Given the description of an element on the screen output the (x, y) to click on. 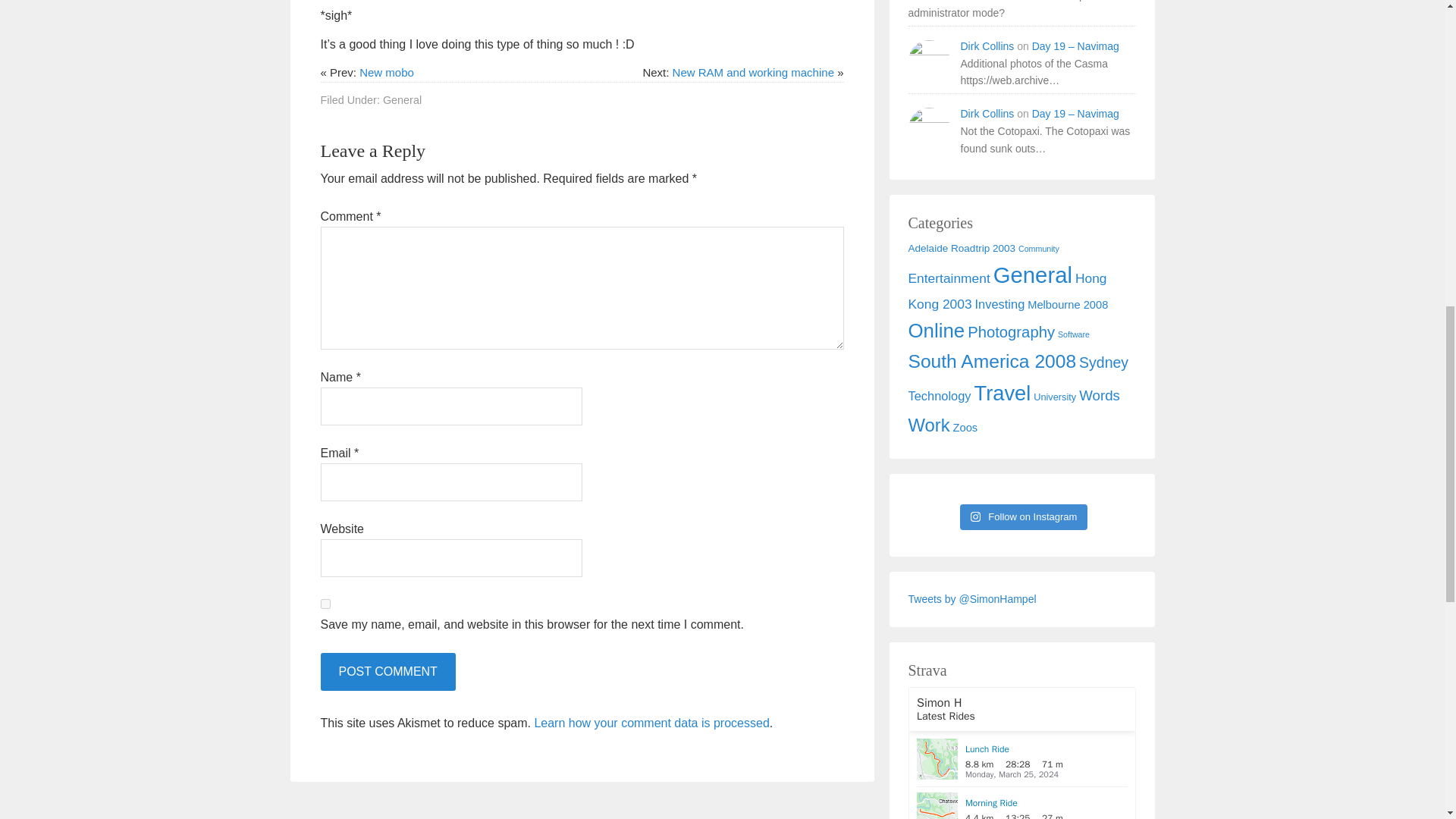
Dirk Collins (986, 113)
Dirk Collins (986, 46)
yes (325, 603)
New RAM and working machine (753, 72)
New mobo (386, 72)
Learn how your comment data is processed (651, 722)
General (402, 100)
Post Comment (387, 671)
Post Comment (387, 671)
